Given the description of an element on the screen output the (x, y) to click on. 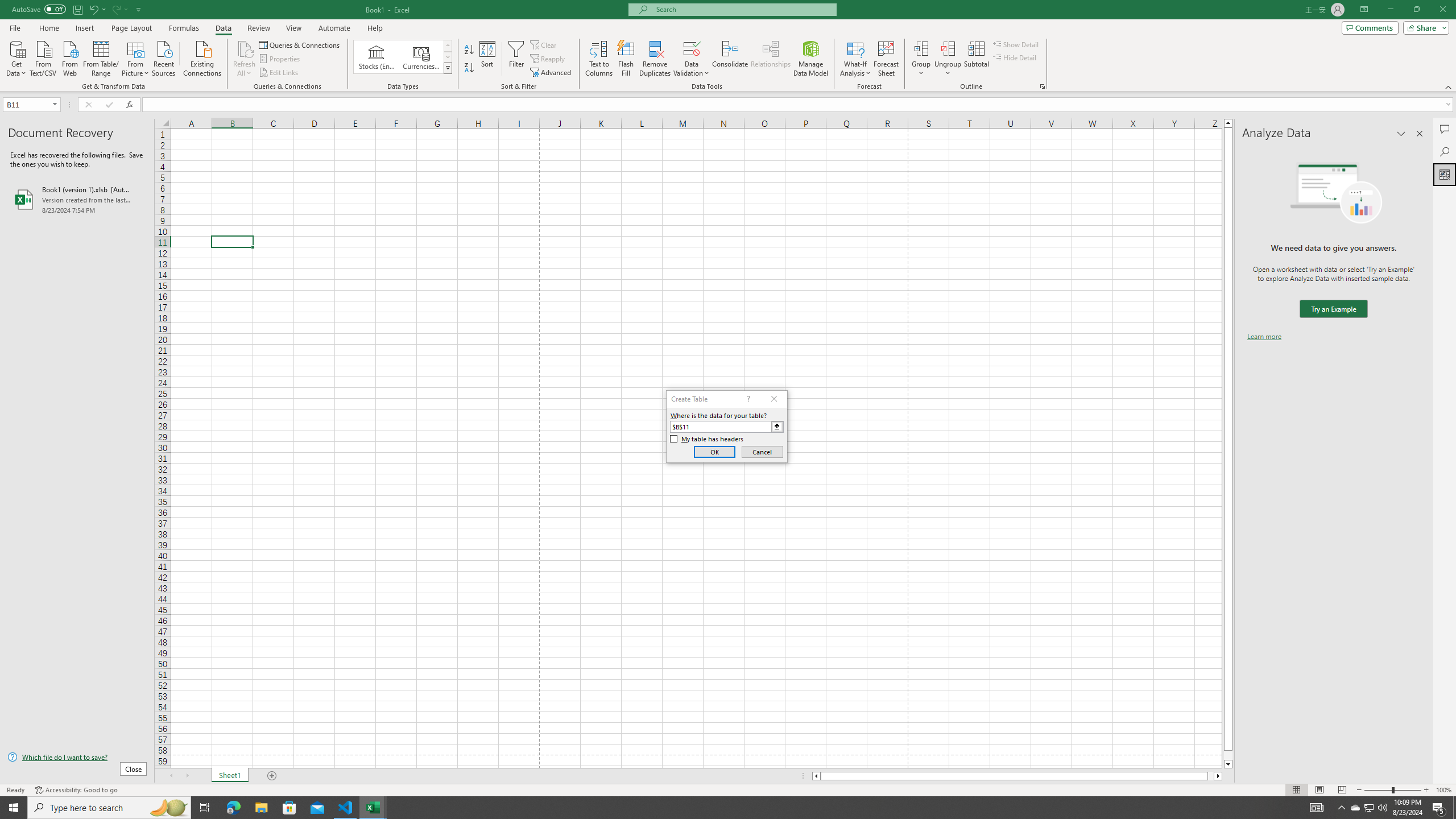
Line up (1228, 122)
From Picture (135, 57)
Data Validation... (691, 58)
AutomationID: ConvertToLinkedEntity (403, 56)
Undo (92, 9)
Forecast Sheet (885, 58)
Class: NetUIScrollBar (1016, 775)
Refresh All (244, 48)
Ungroup... (947, 58)
Which file do I want to save? (77, 757)
More Options (947, 68)
Sort... (487, 58)
Line down (1228, 764)
Subtotal (976, 58)
